Given the description of an element on the screen output the (x, y) to click on. 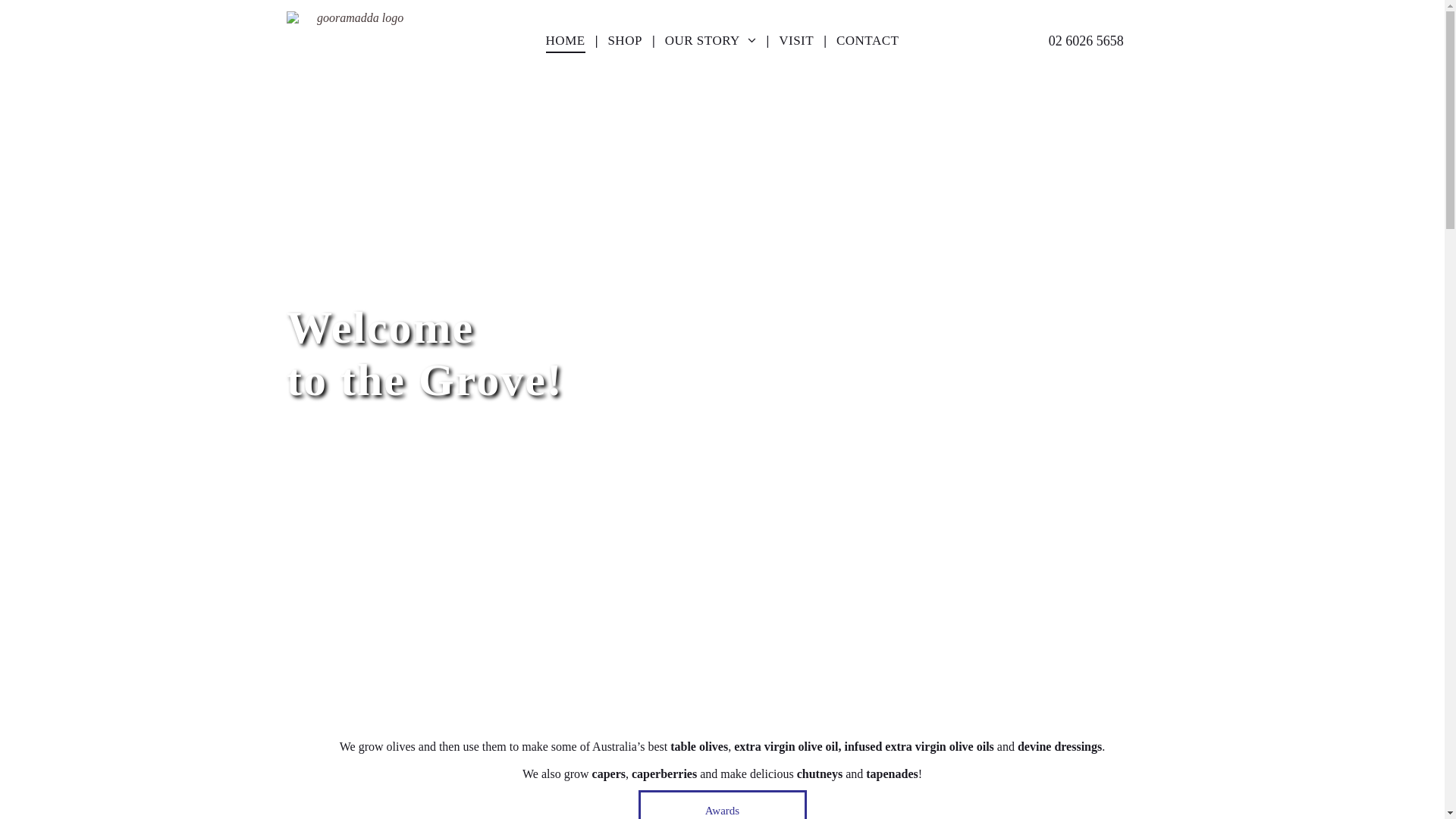
OUR STORY Element type: text (710, 41)
devine dressings Element type: text (1059, 746)
CONTACT Element type: text (867, 41)
capers Element type: text (608, 773)
SHOP Element type: text (624, 41)
02 6026 5658 Element type: text (1085, 40)
table olives Element type: text (699, 746)
infused extra virgin olive oils Element type: text (919, 746)
extra virgin olive oil Element type: text (785, 746)
HOME Element type: text (565, 41)
VISIT Element type: text (795, 41)
